Given the description of an element on the screen output the (x, y) to click on. 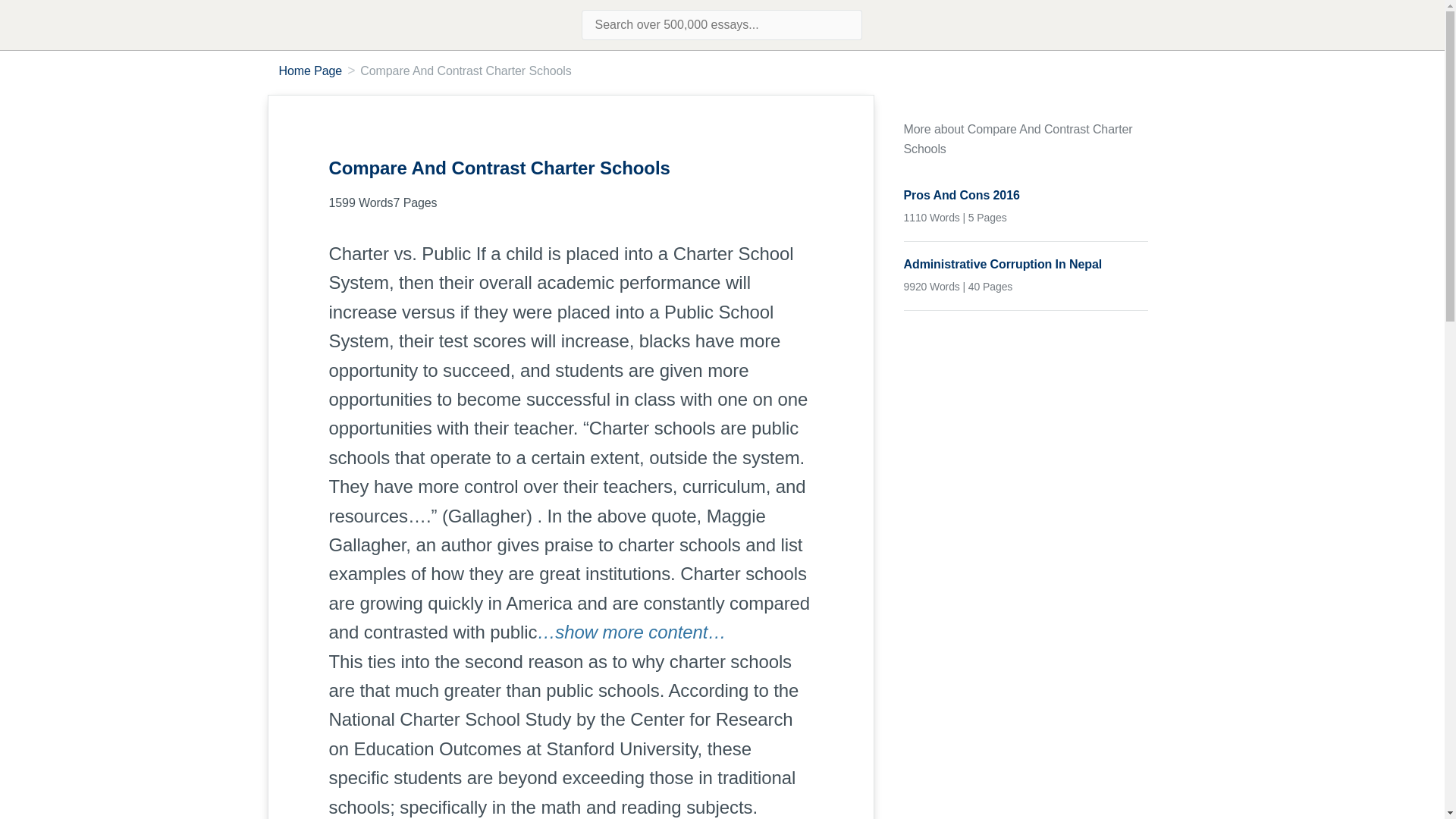
Pros And Cons 2016 (1026, 195)
Home Page (310, 70)
Administrative Corruption In Nepal (1026, 264)
